Given the description of an element on the screen output the (x, y) to click on. 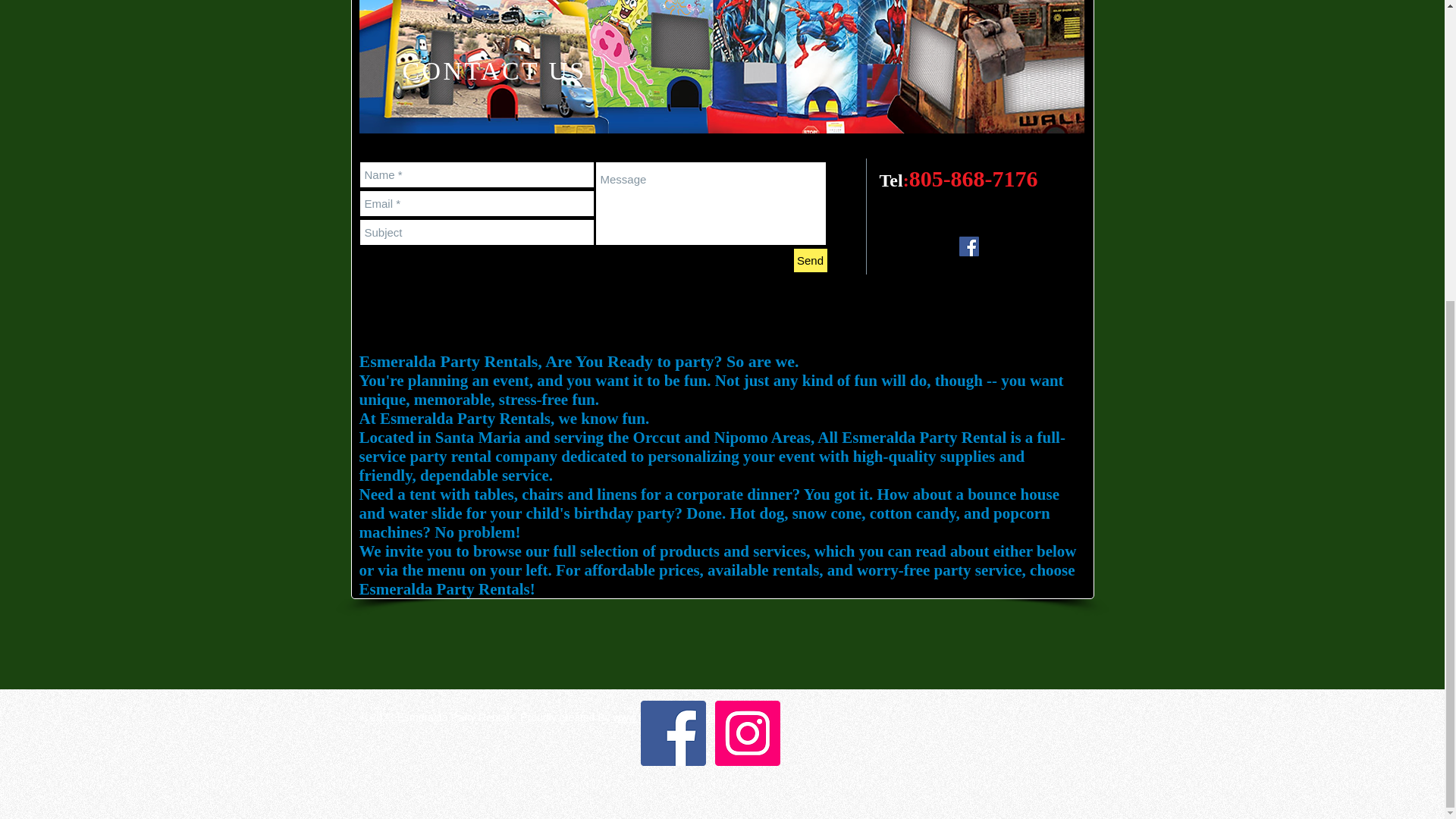
jumpers.png (721, 66)
Send (810, 259)
www.805graphics.com (664, 717)
